Given the description of an element on the screen output the (x, y) to click on. 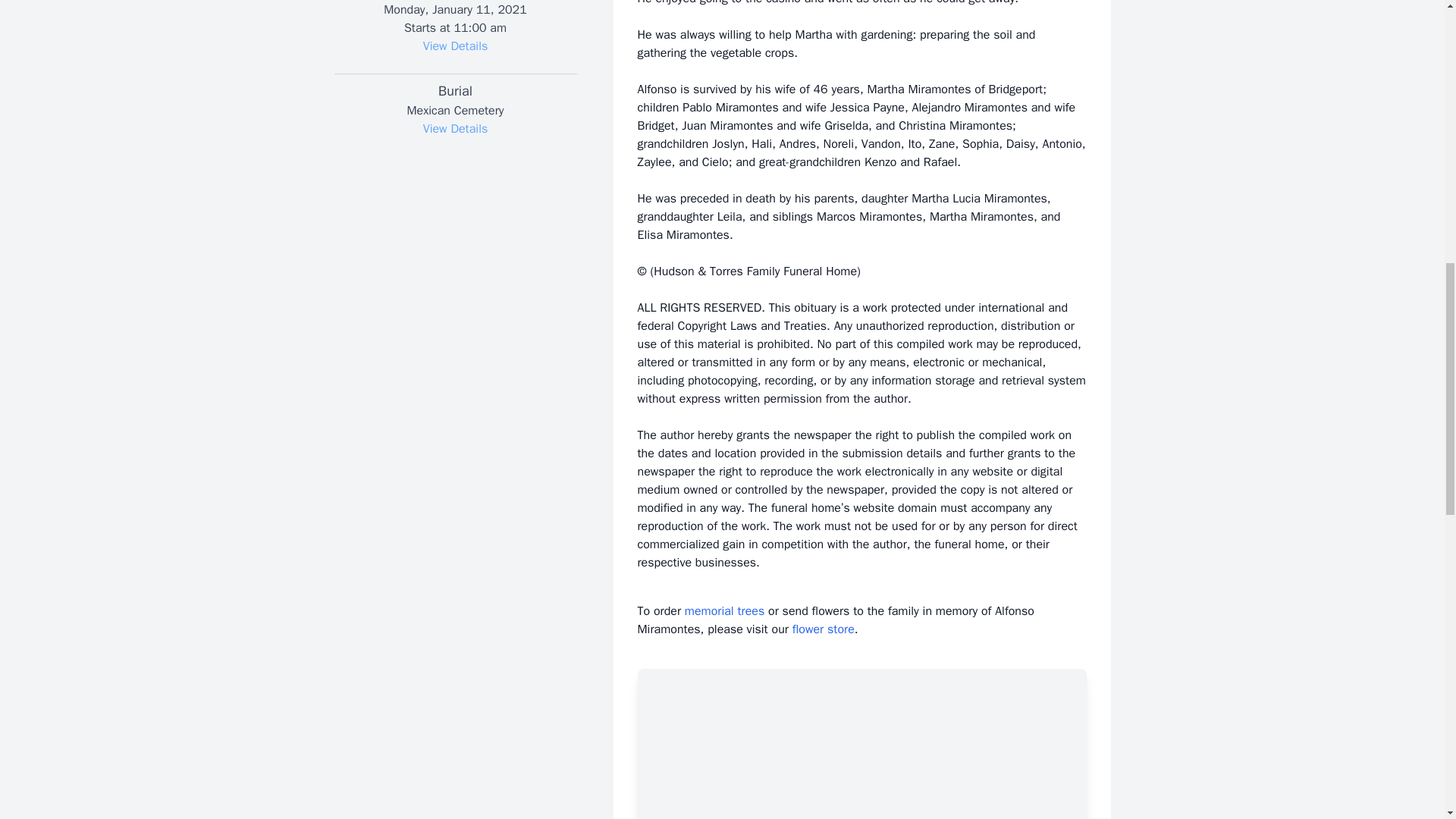
memorial trees (724, 611)
flower store (823, 629)
View Details (455, 128)
View Details (455, 46)
